Given the description of an element on the screen output the (x, y) to click on. 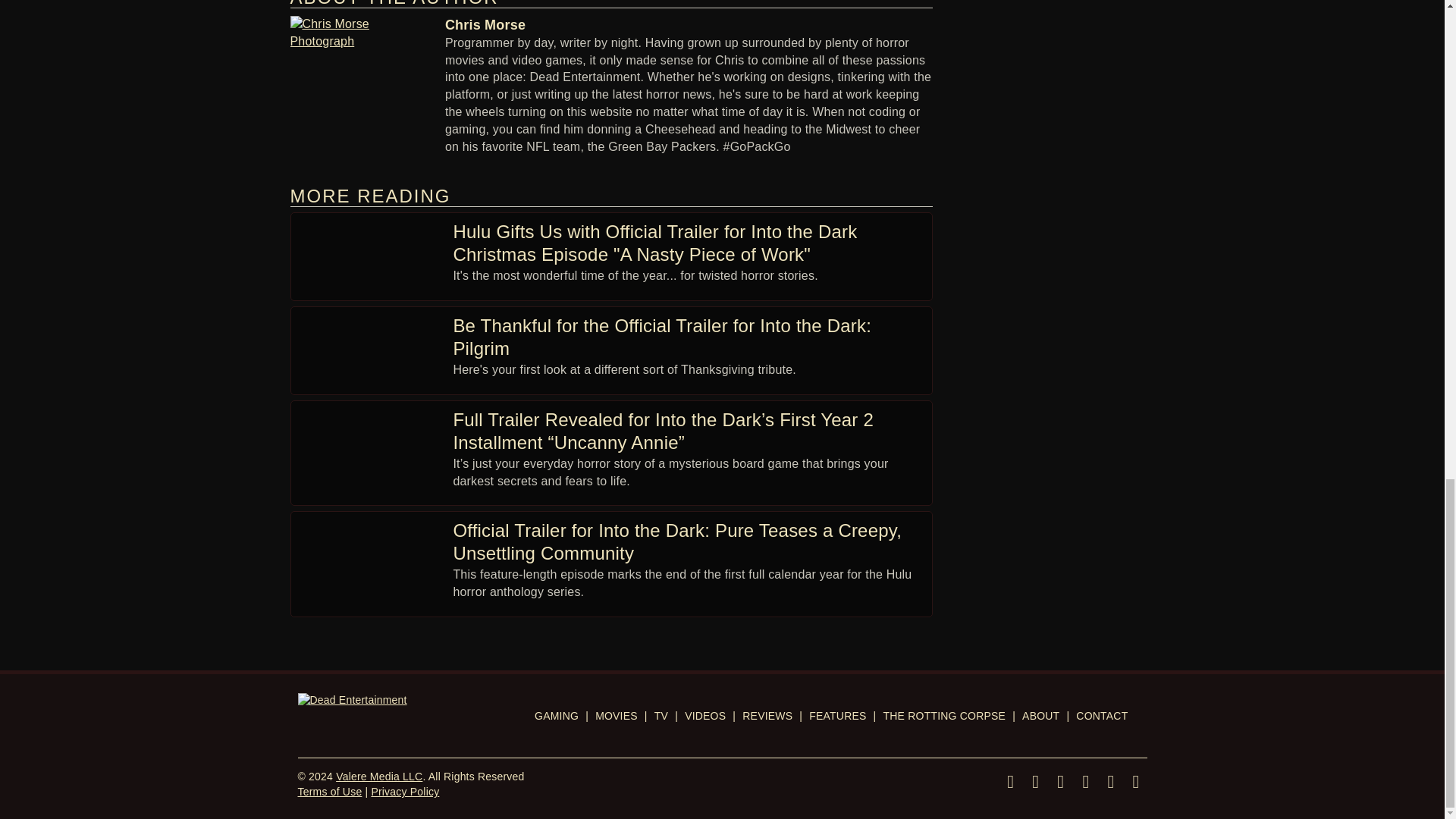
Chris Morse (485, 24)
